Given the description of an element on the screen output the (x, y) to click on. 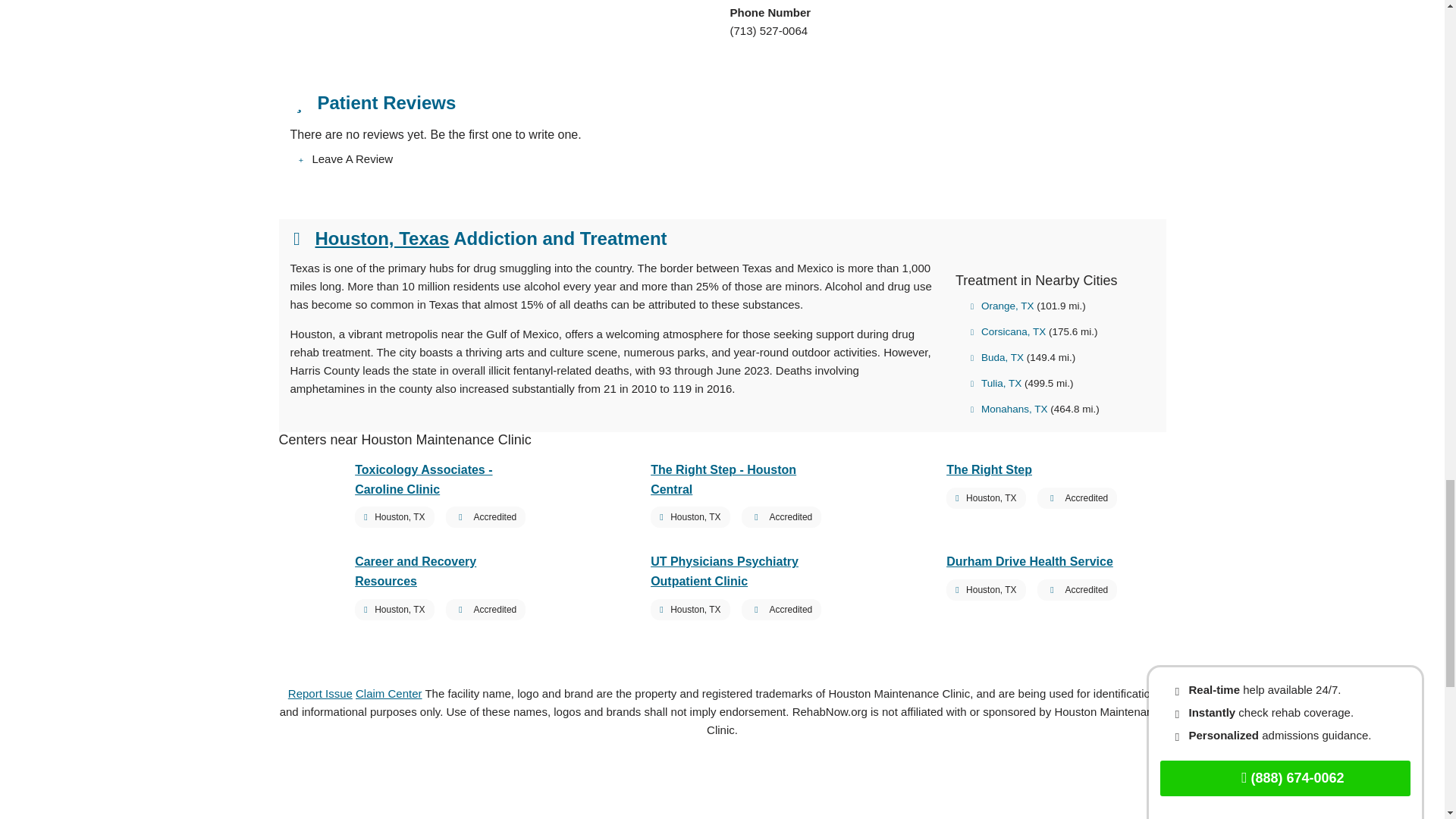
In Corsicana, Texas and Need Drug or Alcohol Treatment? (1008, 331)
Rehab Now in Tulia, TX (996, 383)
Orange Drug Rehab and Nearby Alcohol Rehabs in Orange, TX (1002, 306)
Rehab Now in Buda, TX (997, 357)
Drug Rehab Centers in Monahans, Texas (1009, 408)
